Given the description of an element on the screen output the (x, y) to click on. 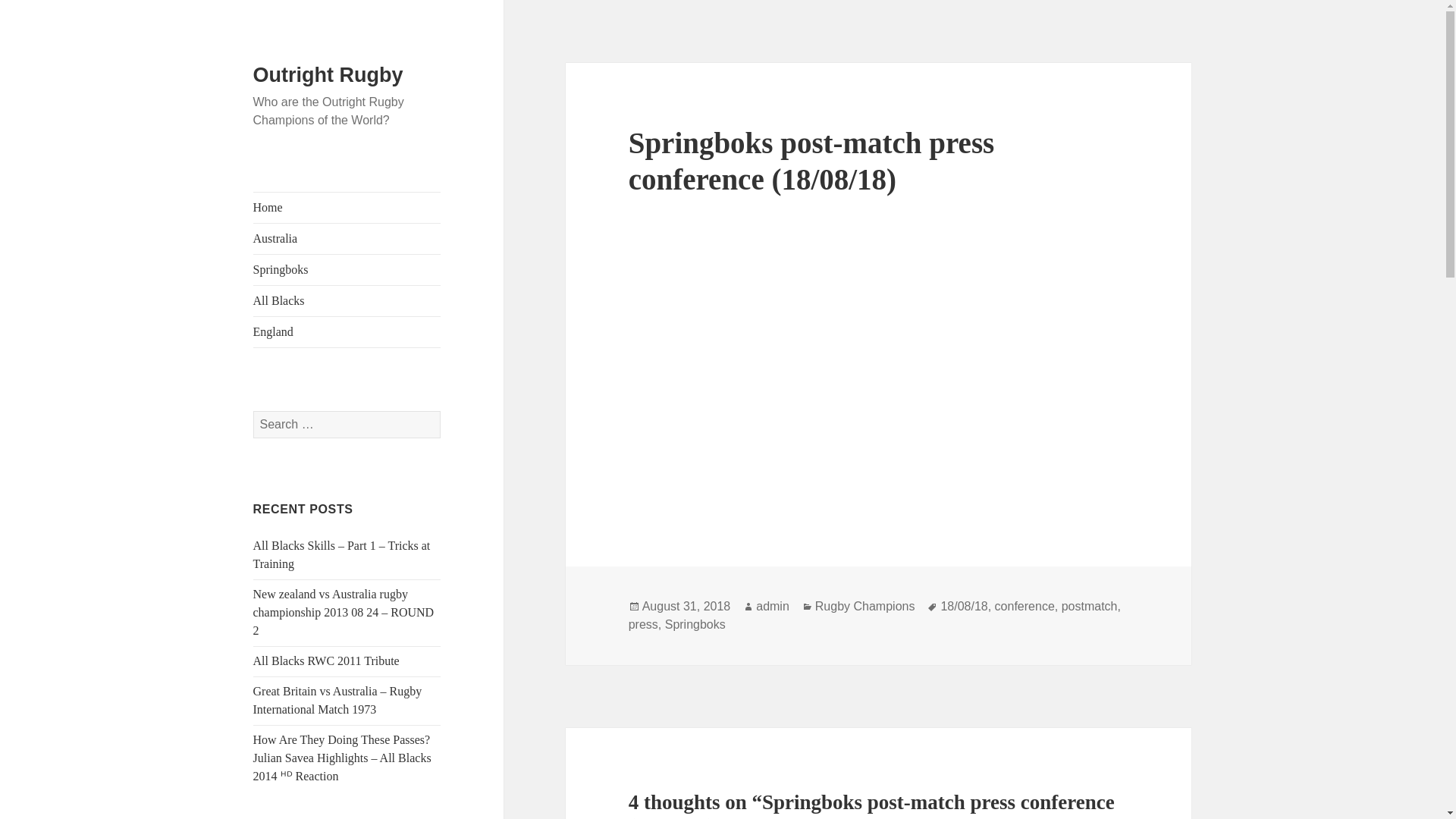
All Blacks RWC 2011 Tribute (325, 660)
Outright Rugby (328, 74)
Home (347, 207)
All Blacks (347, 300)
England (347, 331)
Australia (347, 238)
Springboks (347, 269)
